Given the description of an element on the screen output the (x, y) to click on. 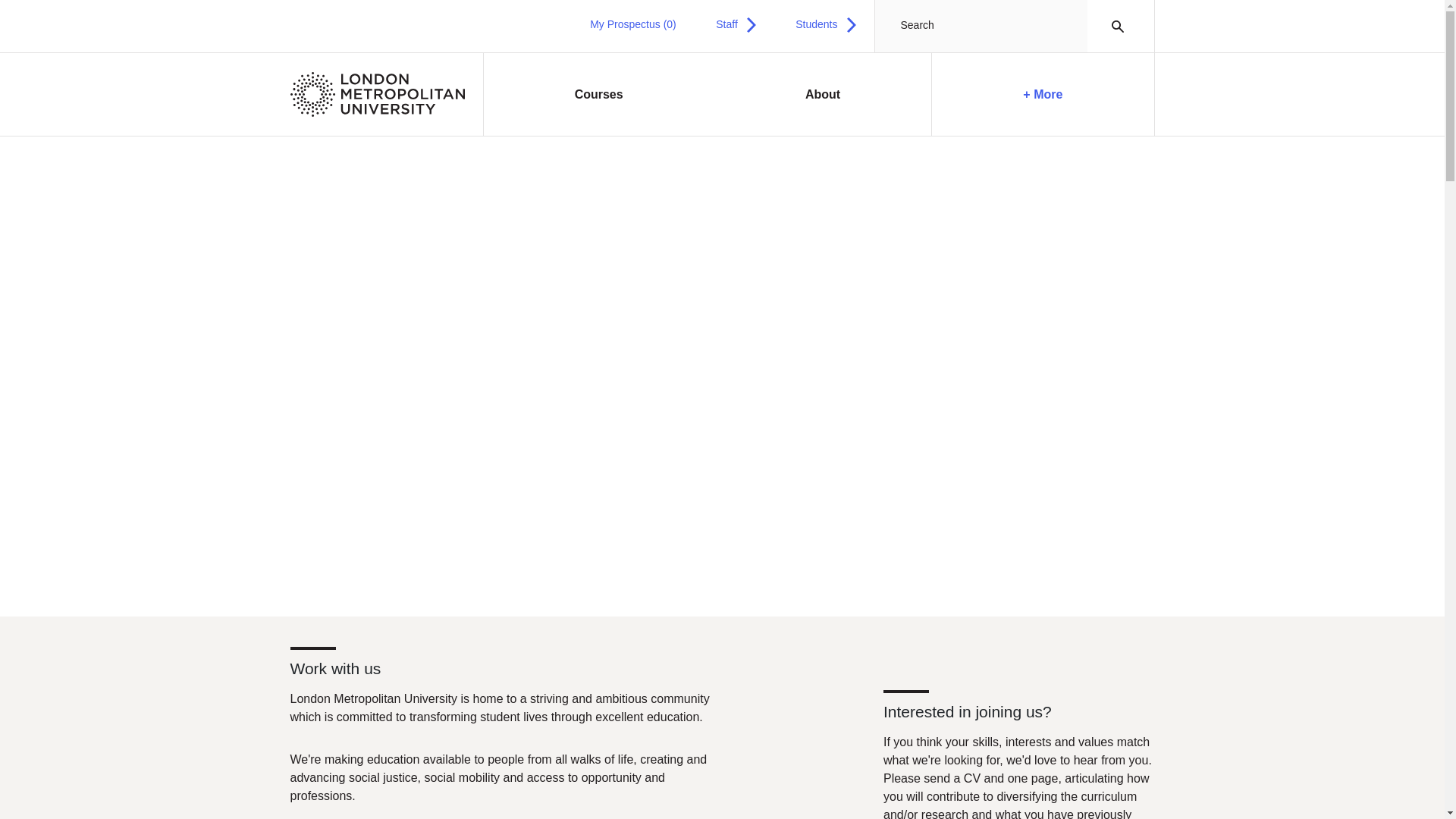
Search (1113, 26)
About (822, 94)
Staff (735, 24)
Search (1113, 26)
Courses (598, 94)
Students (825, 24)
